Given the description of an element on the screen output the (x, y) to click on. 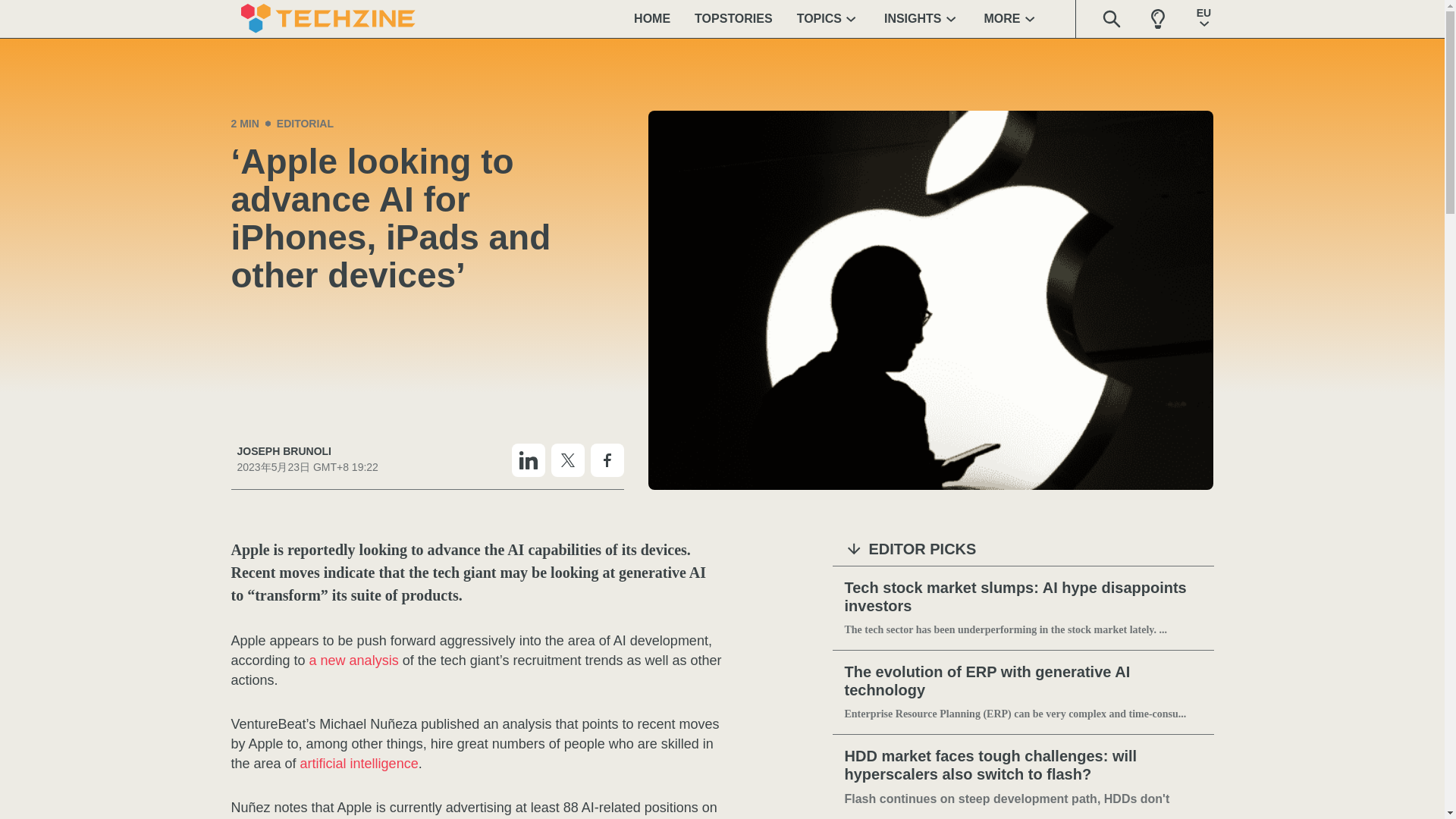
JOSEPH BRUNOLI (306, 451)
The evolution of ERP with generative AI technology (1023, 681)
EDITORIAL (304, 123)
HOME (651, 18)
MORE (1011, 18)
INSIGHTS (922, 18)
TOPICS (828, 18)
TOPSTORIES (733, 18)
Tech stock market slumps: AI hype disappoints investors (1023, 597)
